Given the description of an element on the screen output the (x, y) to click on. 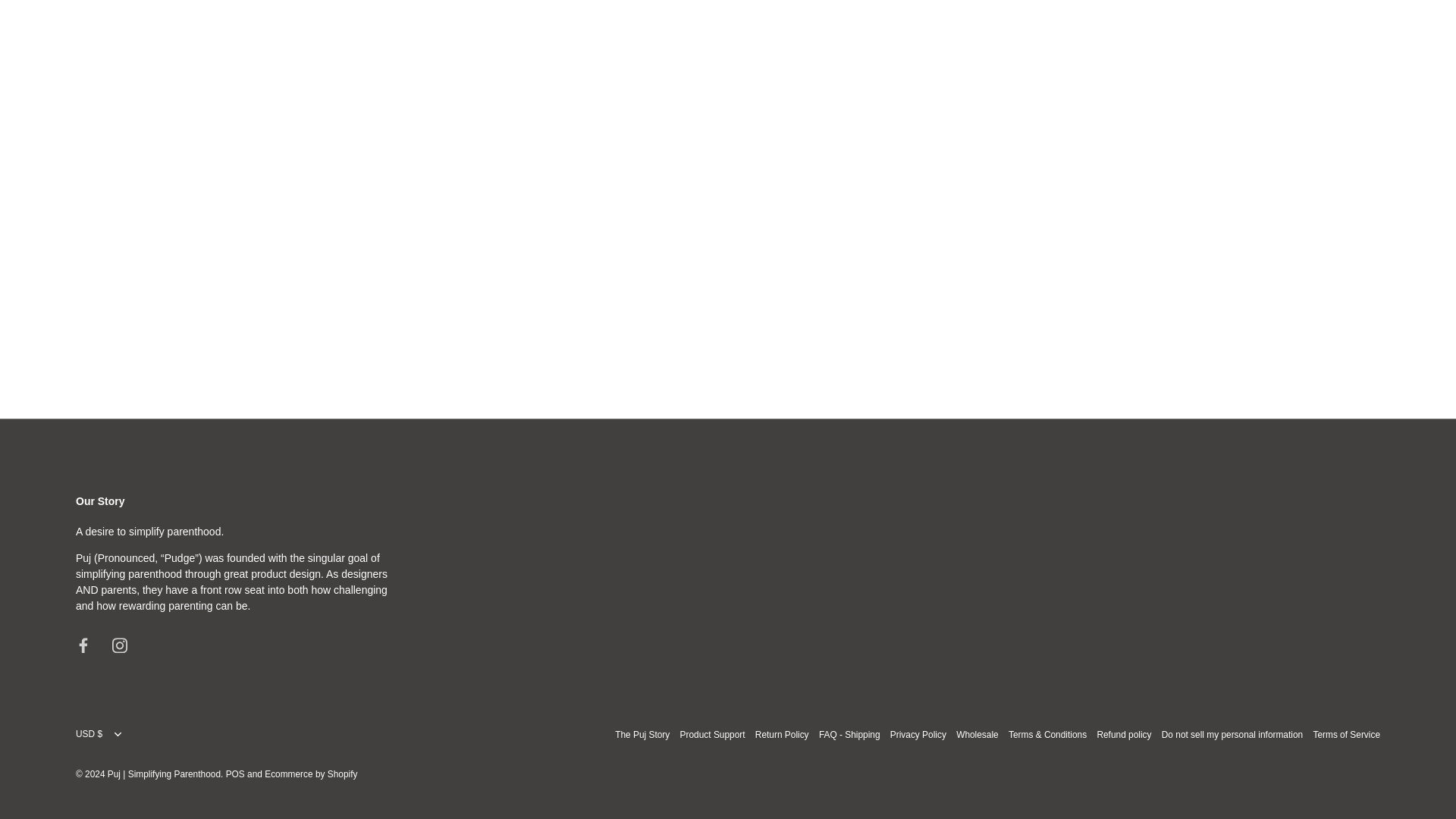
Instagram (120, 645)
